Given the description of an element on the screen output the (x, y) to click on. 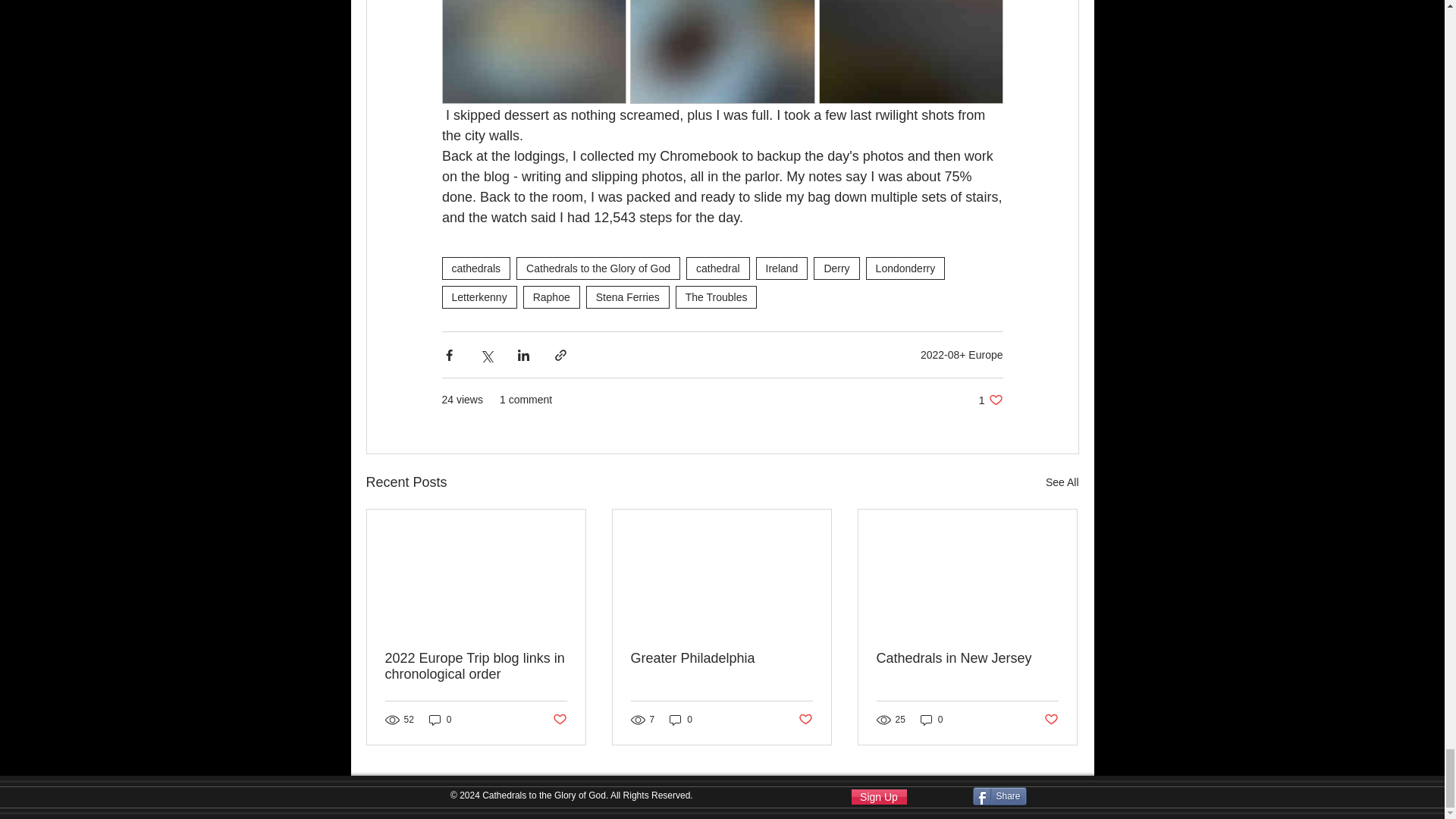
Londonderry (905, 268)
cathedral (717, 268)
Twitter Tweet (1065, 795)
Raphoe (550, 296)
Stena Ferries (627, 296)
Cathedrals to the Glory of God (597, 268)
cathedrals (476, 268)
The Troubles (716, 296)
Share (999, 796)
Ireland (781, 268)
Derry (836, 268)
Letterkenny (478, 296)
